Given the description of an element on the screen output the (x, y) to click on. 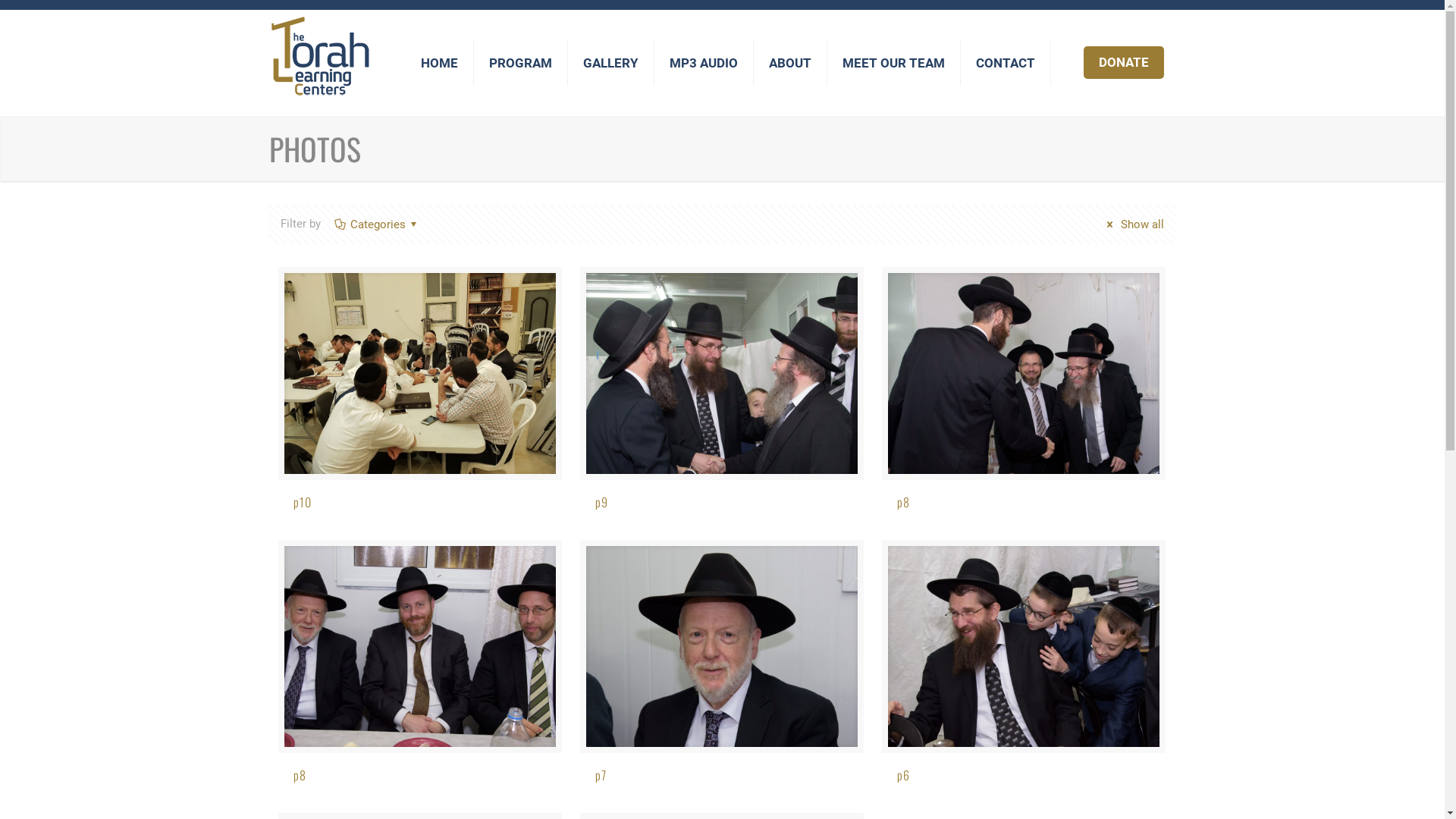
MEET OUR TEAM Element type: text (893, 62)
p10 Element type: text (302, 501)
p7 Element type: text (600, 774)
MP3 AUDIO Element type: text (703, 62)
p8 Element type: text (299, 774)
p8 Element type: text (903, 501)
Categories Element type: text (377, 224)
p6 Element type: text (903, 774)
DONATE Element type: text (1123, 62)
GALLERY Element type: text (610, 62)
PROGRAM Element type: text (520, 62)
CONTACT Element type: text (1005, 62)
HOME Element type: text (439, 62)
p9 Element type: text (601, 501)
The Torah Learning Center Element type: hover (320, 54)
Show all Element type: text (1132, 224)
ABOUT Element type: text (790, 62)
